Given the description of an element on the screen output the (x, y) to click on. 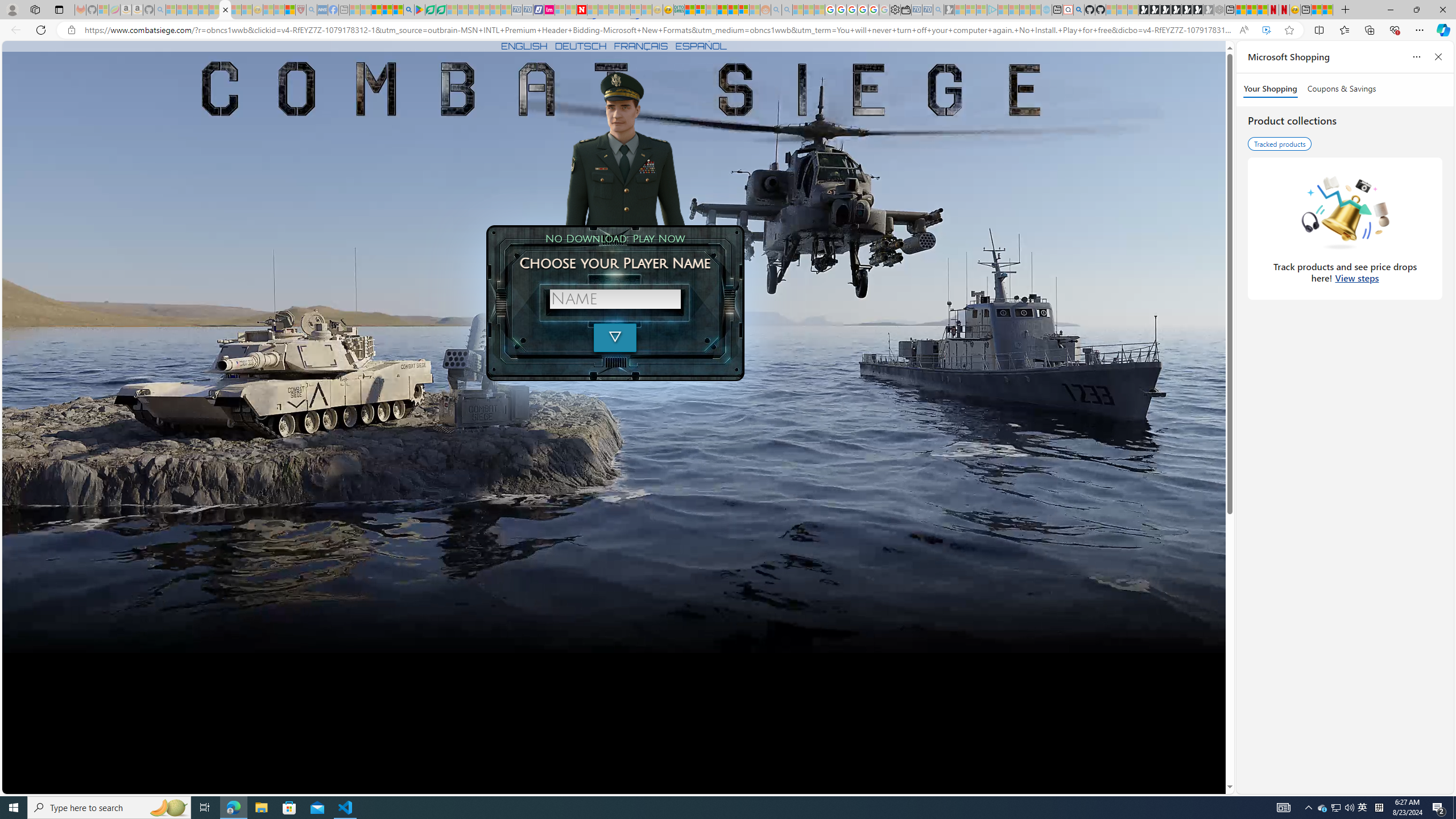
Combat Siege (225, 9)
